Given the description of an element on the screen output the (x, y) to click on. 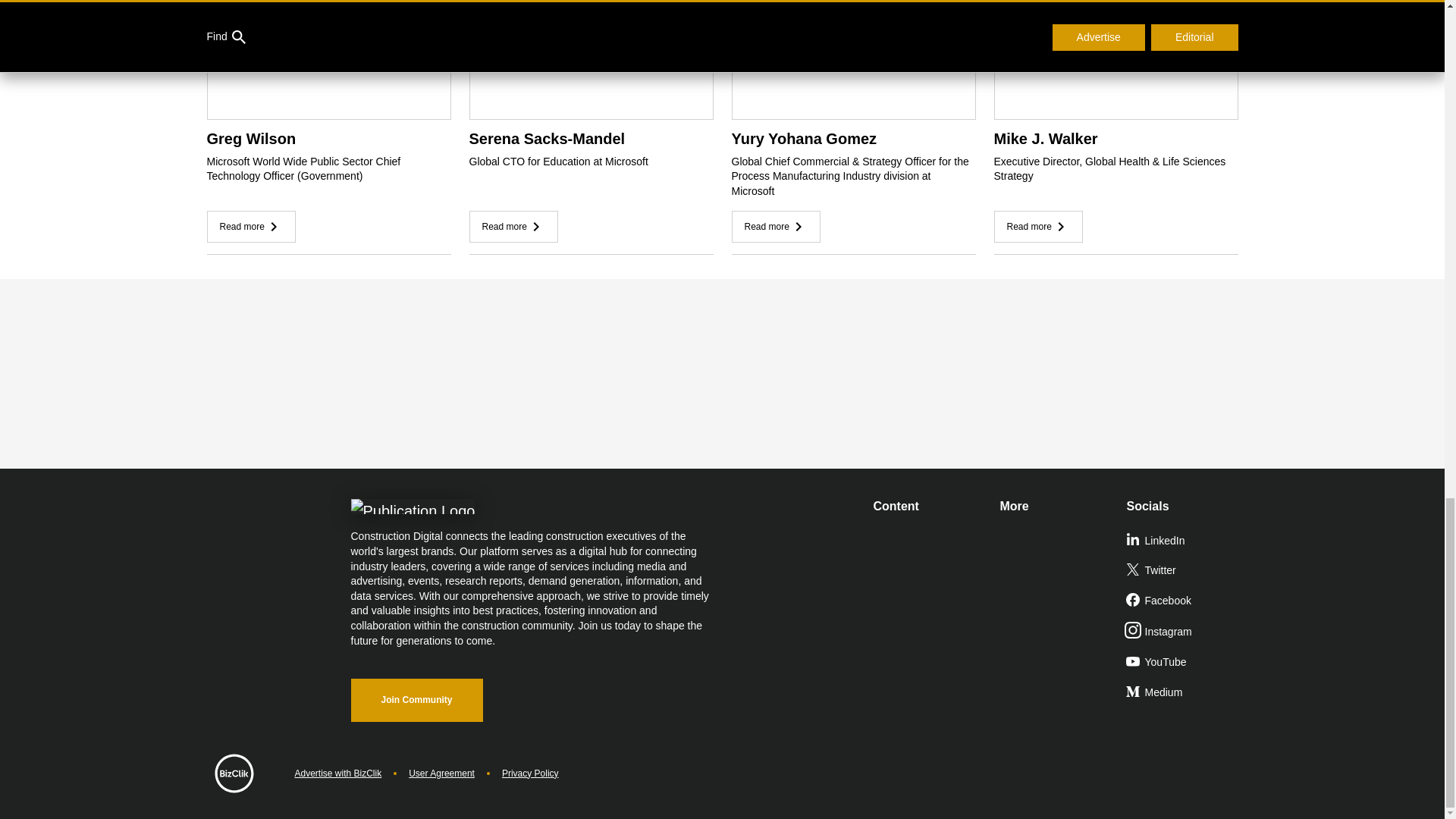
LinkedIn (1182, 541)
Join Community (415, 699)
Facebook (1182, 601)
Advertise with BizClik (337, 773)
Medium (1182, 693)
Twitter (1182, 571)
Privacy Policy (530, 773)
YouTube (1182, 662)
Instagram (1182, 631)
User Agreement (441, 773)
